Given the description of an element on the screen output the (x, y) to click on. 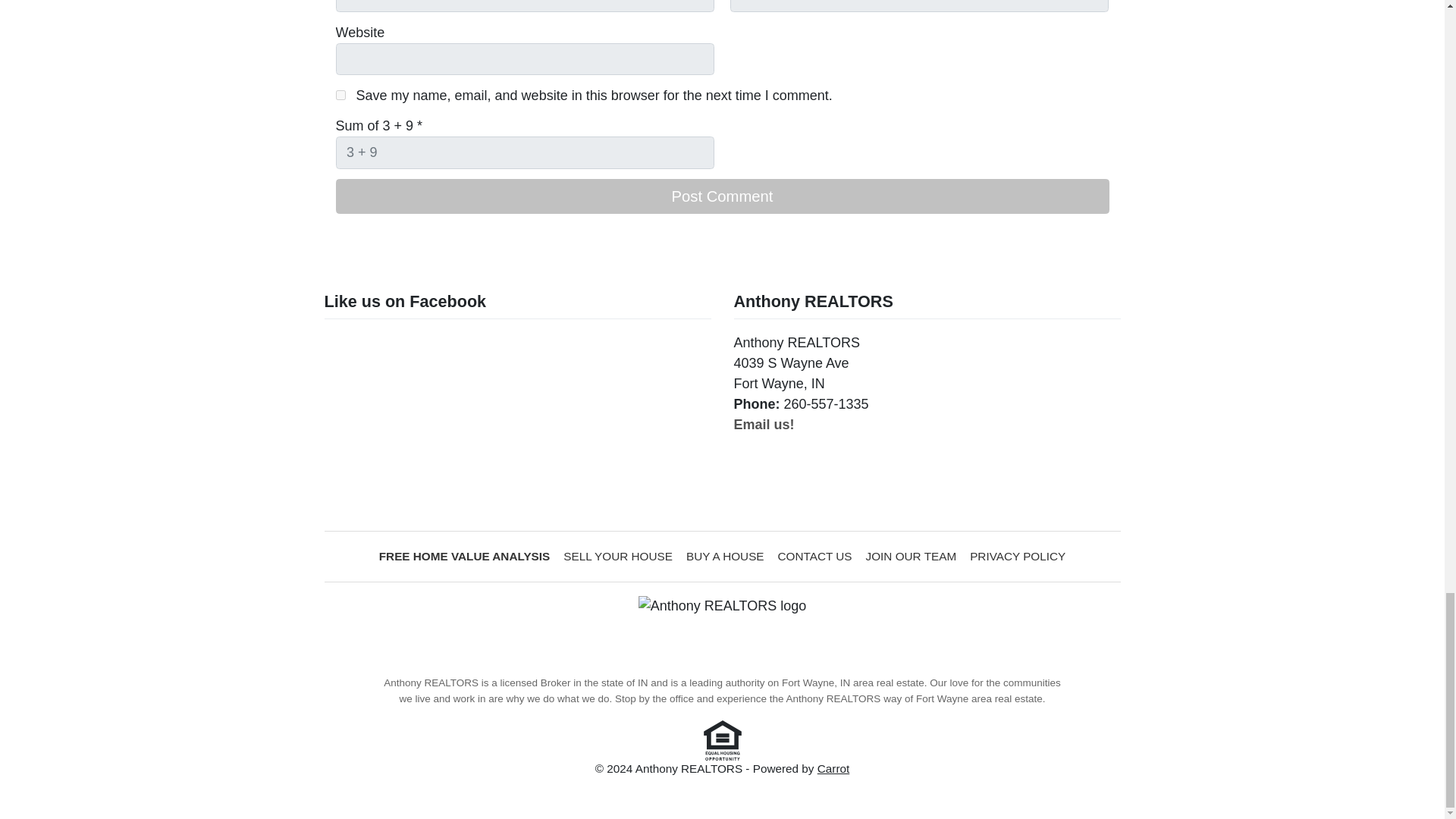
Email us! (763, 424)
SELL YOUR HOUSE (617, 556)
yes (339, 94)
BUY A HOUSE (725, 556)
Post Comment (721, 196)
PRIVACY POLICY (1016, 556)
JOIN OUR TEAM (911, 556)
Post Comment (721, 196)
CONTACT US (815, 556)
FREE HOME VALUE ANALYSIS (464, 556)
